Given the description of an element on the screen output the (x, y) to click on. 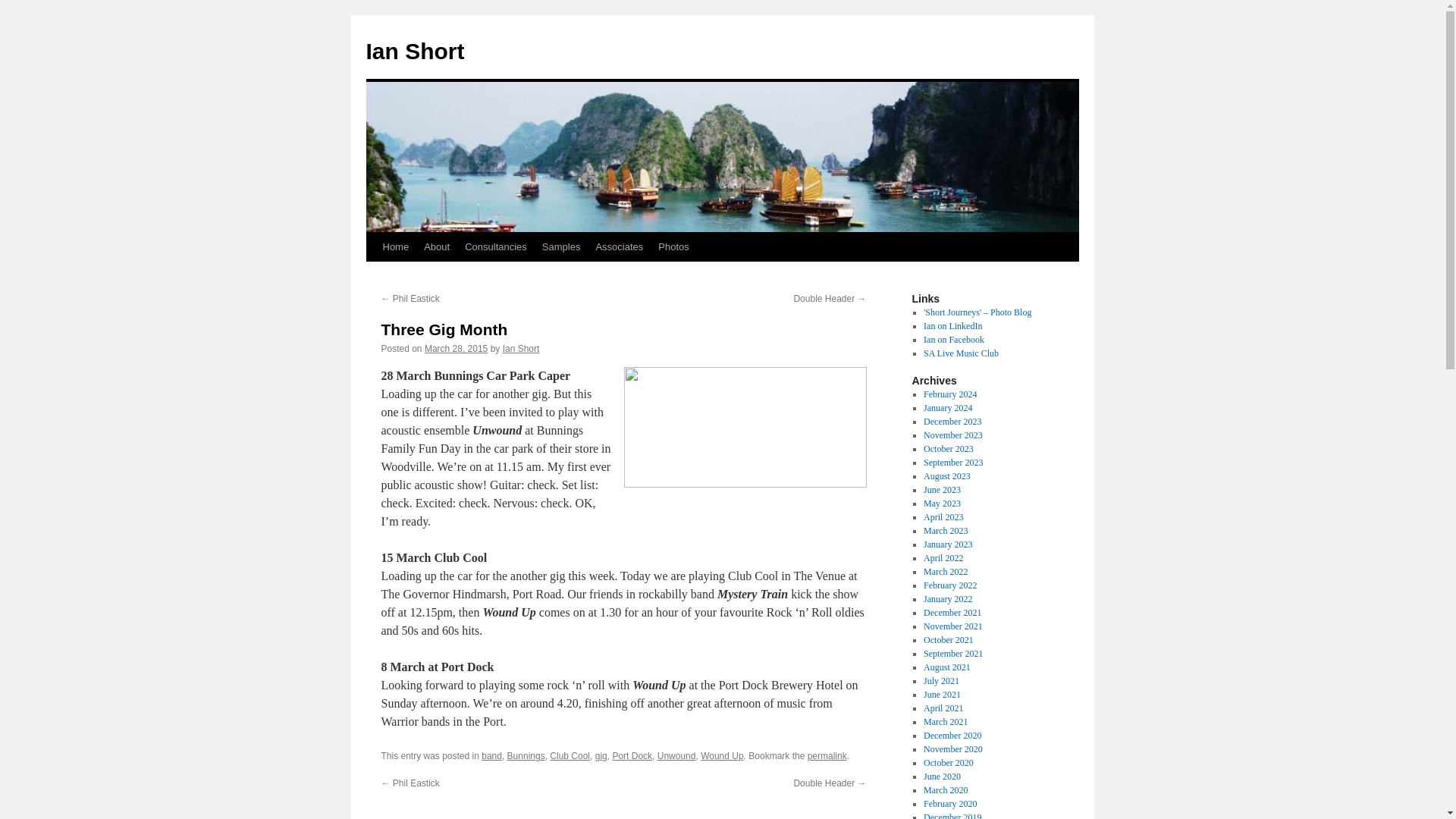
Consultancies (495, 246)
Ian Short (521, 348)
Wound Up (721, 756)
Skip to content (372, 274)
permalink (827, 756)
Port Dock (631, 756)
Unwound (676, 756)
Photos (672, 246)
band (491, 756)
gig (601, 756)
Permalink to Three Gig Month (827, 756)
View all posts by Ian Short (521, 348)
SA Live Music Club (960, 353)
Club Cool (569, 756)
Ian Short (414, 50)
